Given the description of an element on the screen output the (x, y) to click on. 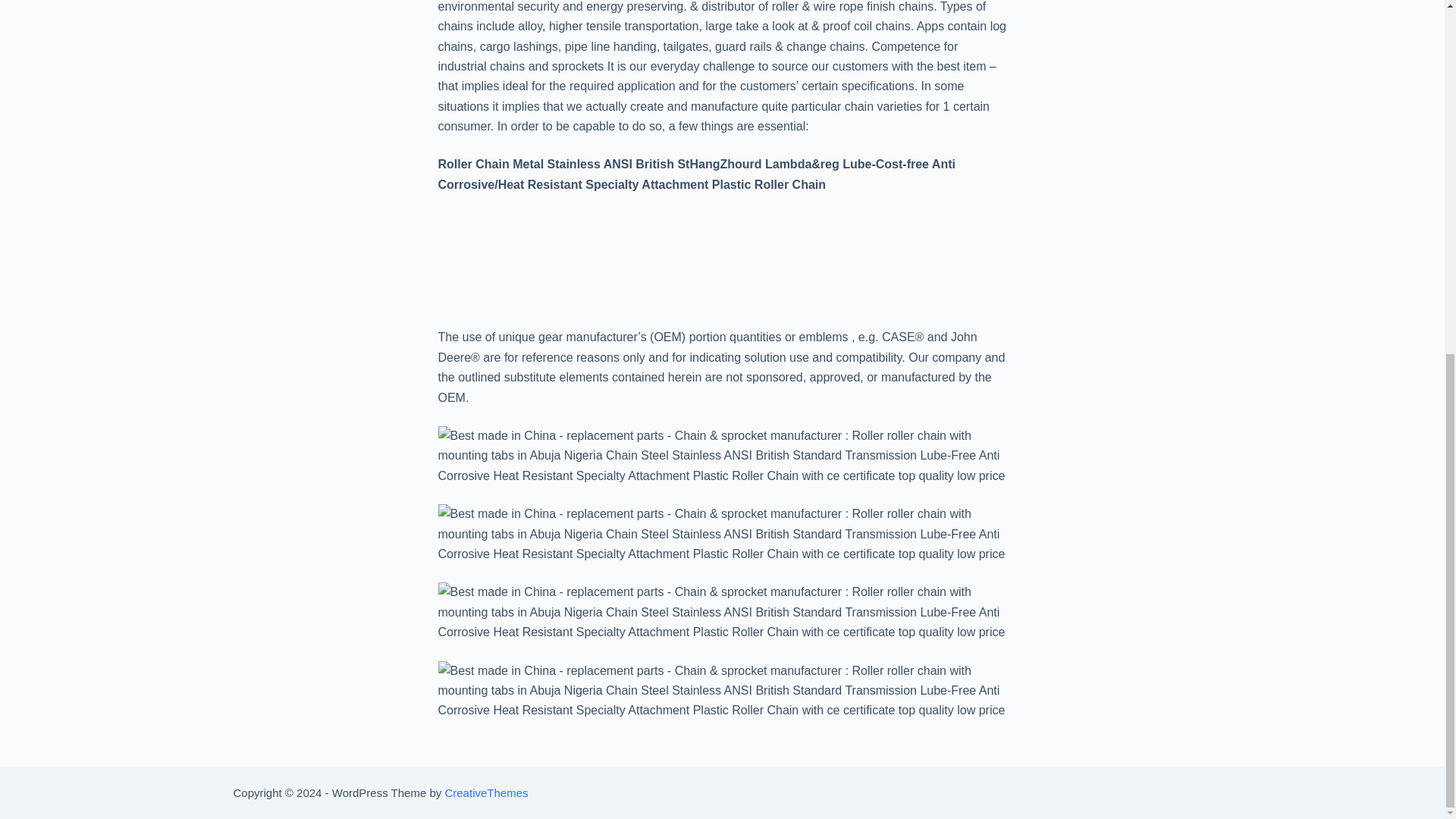
CreativeThemes (485, 792)
